Given the description of an element on the screen output the (x, y) to click on. 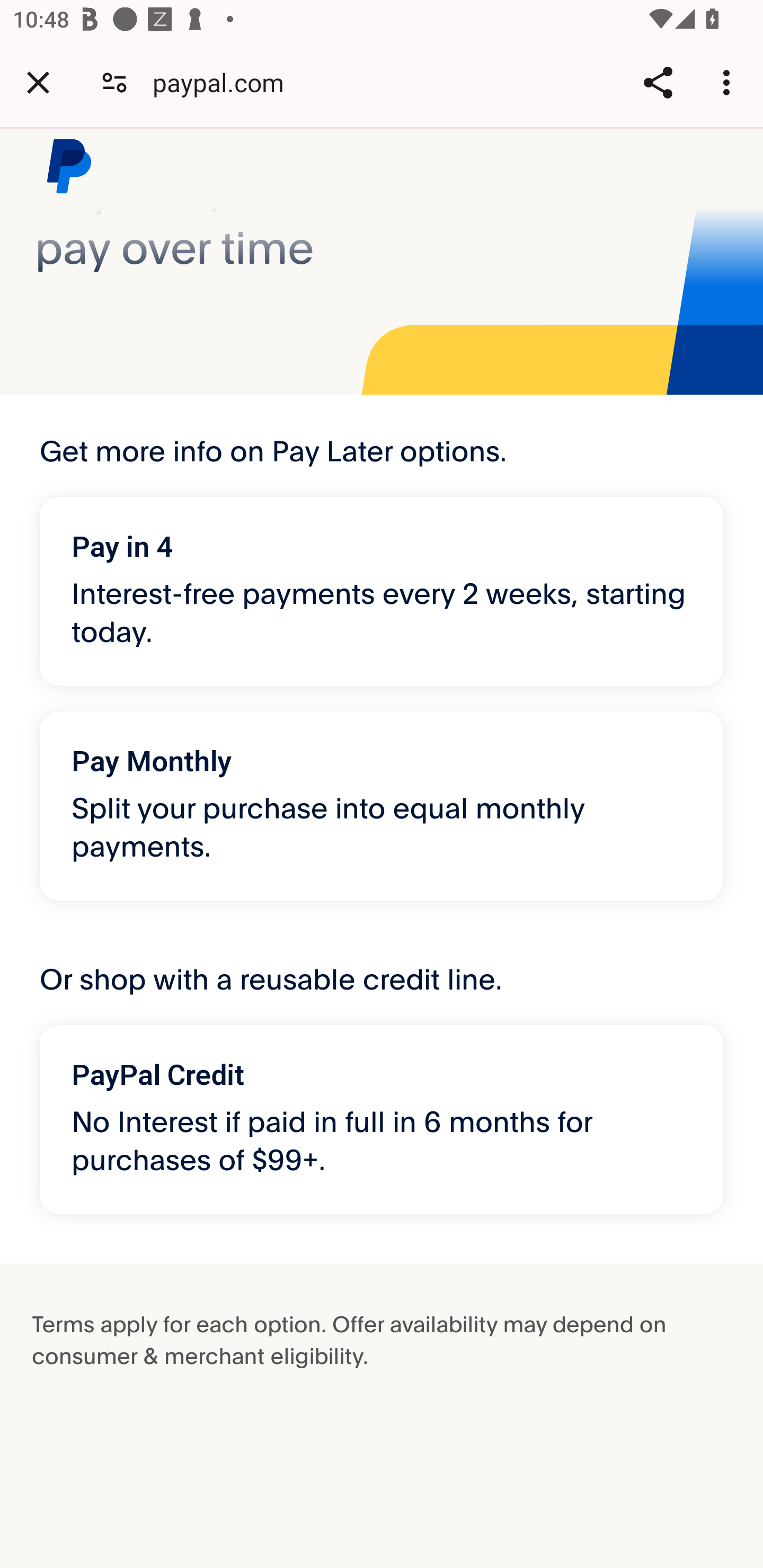
Close tab (38, 82)
Share (657, 82)
Customize and control Google Chrome (729, 82)
Connection is secure (114, 81)
paypal.com (224, 81)
